Given the description of an element on the screen output the (x, y) to click on. 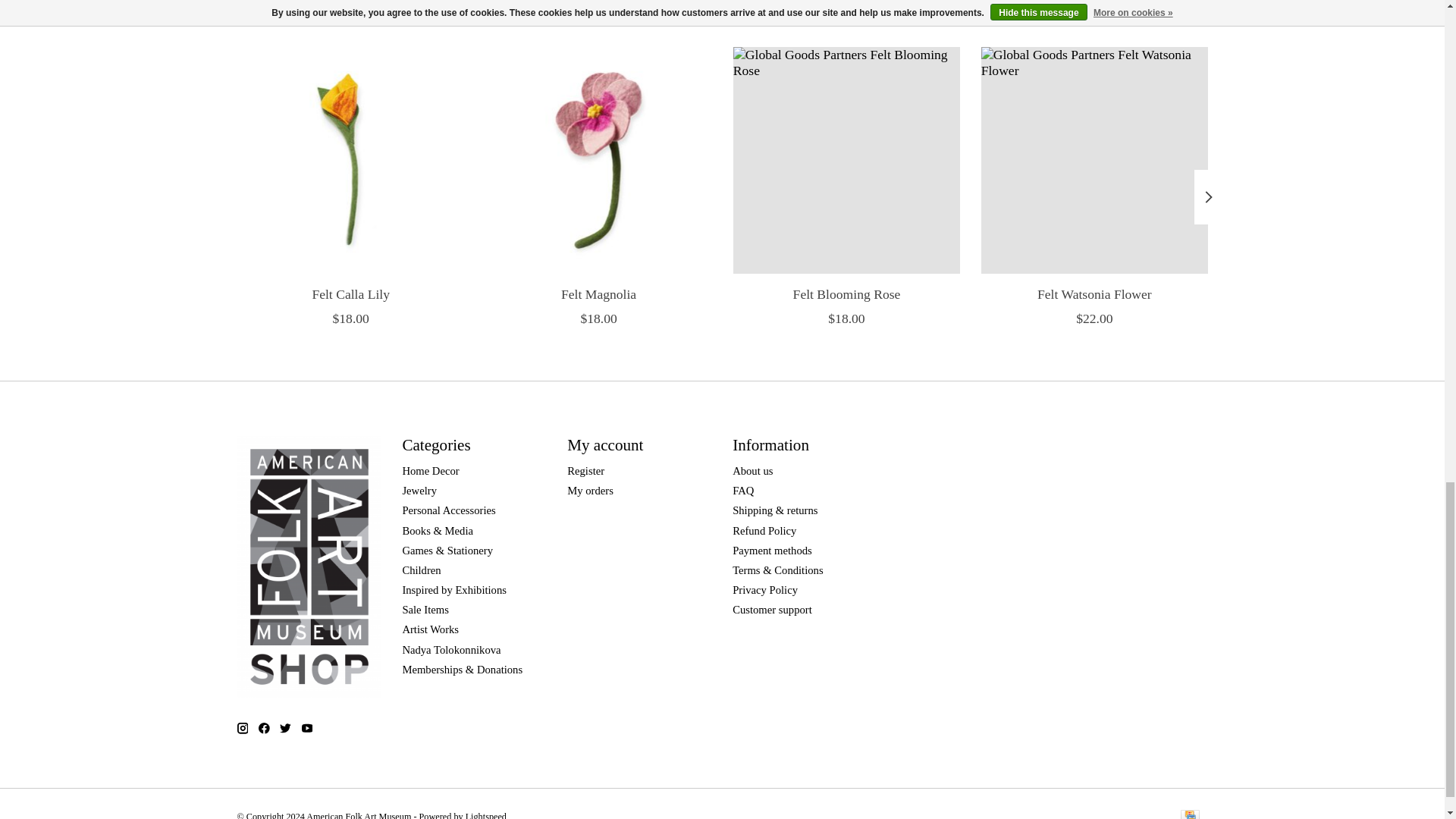
Global Goods Partners Felt Blooming Rose (845, 159)
FAQ (743, 490)
My orders (589, 490)
Register (585, 470)
About us (752, 470)
Global Goods Partners Felt Watsonia Flower (1093, 159)
Global Goods Partners Felt Calla Lily (349, 159)
Global Goods Partners Felt Magnolia (597, 159)
